Given the description of an element on the screen output the (x, y) to click on. 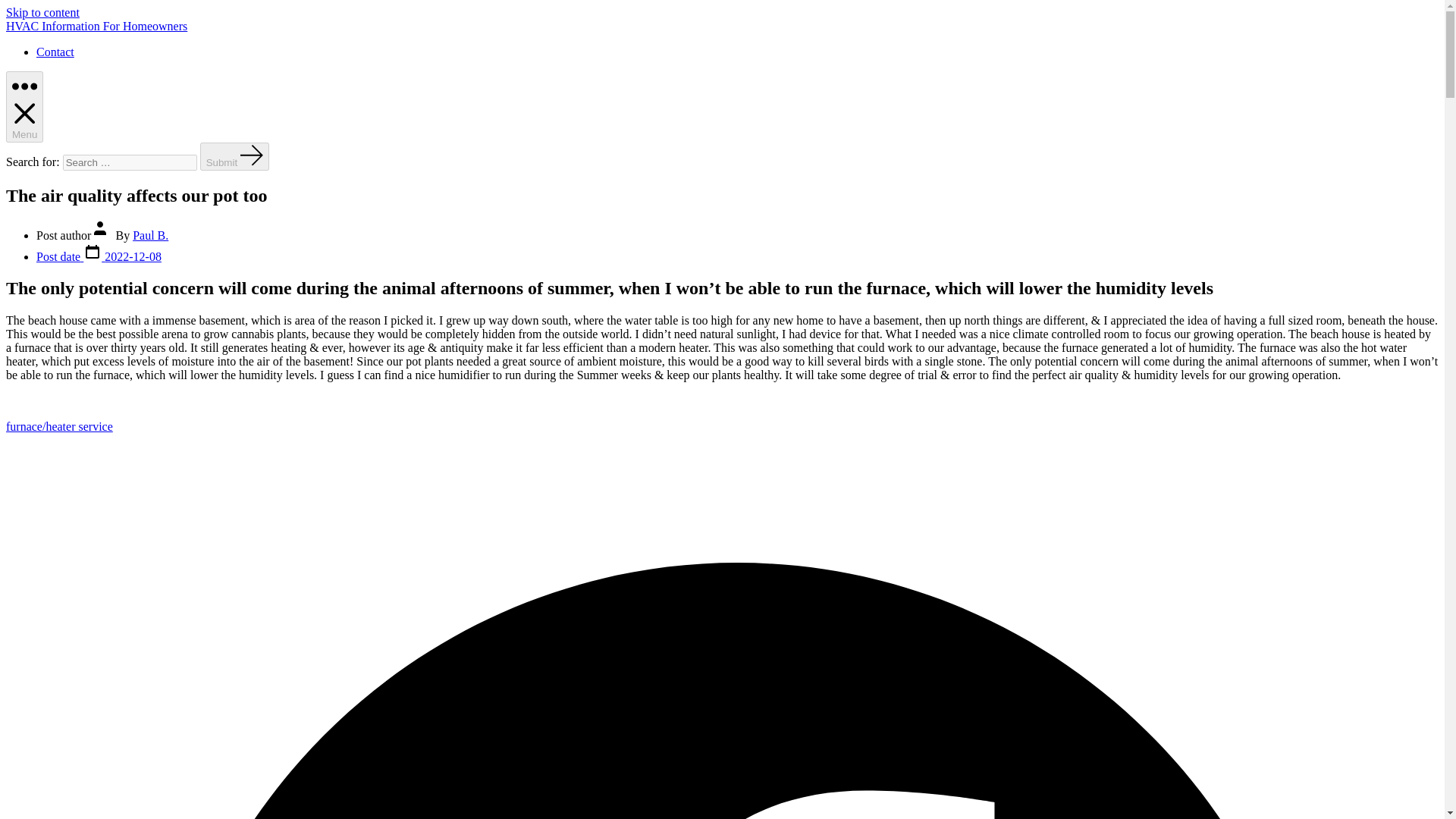
Submit (234, 156)
Paul B. (150, 235)
Skip to content (42, 11)
Contact (55, 51)
Menu (24, 106)
HVAC Information For Homeowners (96, 25)
Post date 2022-12-08 (98, 256)
